Given the description of an element on the screen output the (x, y) to click on. 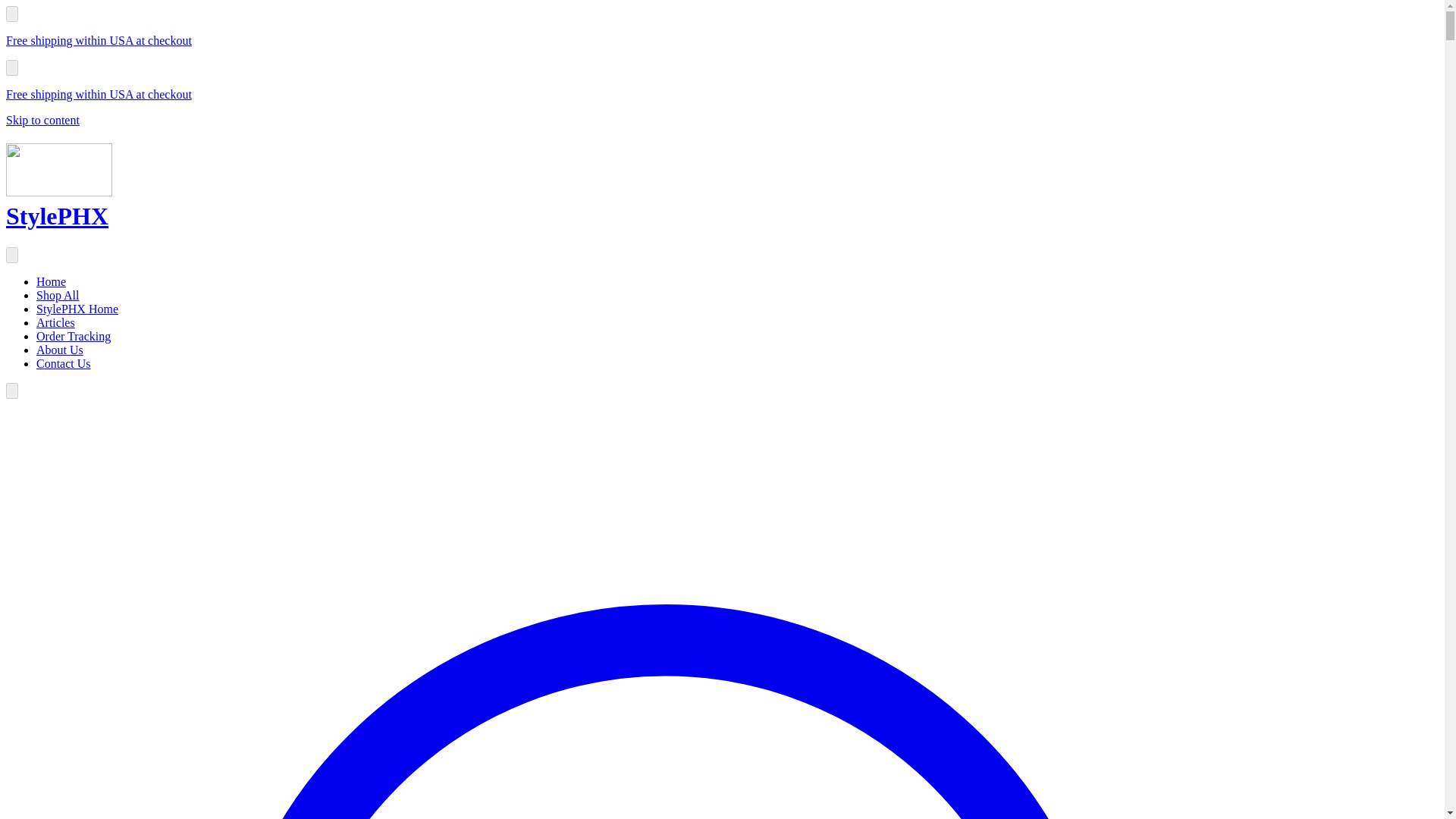
Next (11, 390)
Order Tracking (73, 336)
Skip to content (42, 119)
Next (11, 67)
Home (50, 281)
Previous (11, 254)
Shop All (57, 295)
Contact Us (63, 363)
Previous (11, 13)
About Us (59, 349)
StylePHX Home (76, 308)
Articles (55, 322)
